Given the description of an element on the screen output the (x, y) to click on. 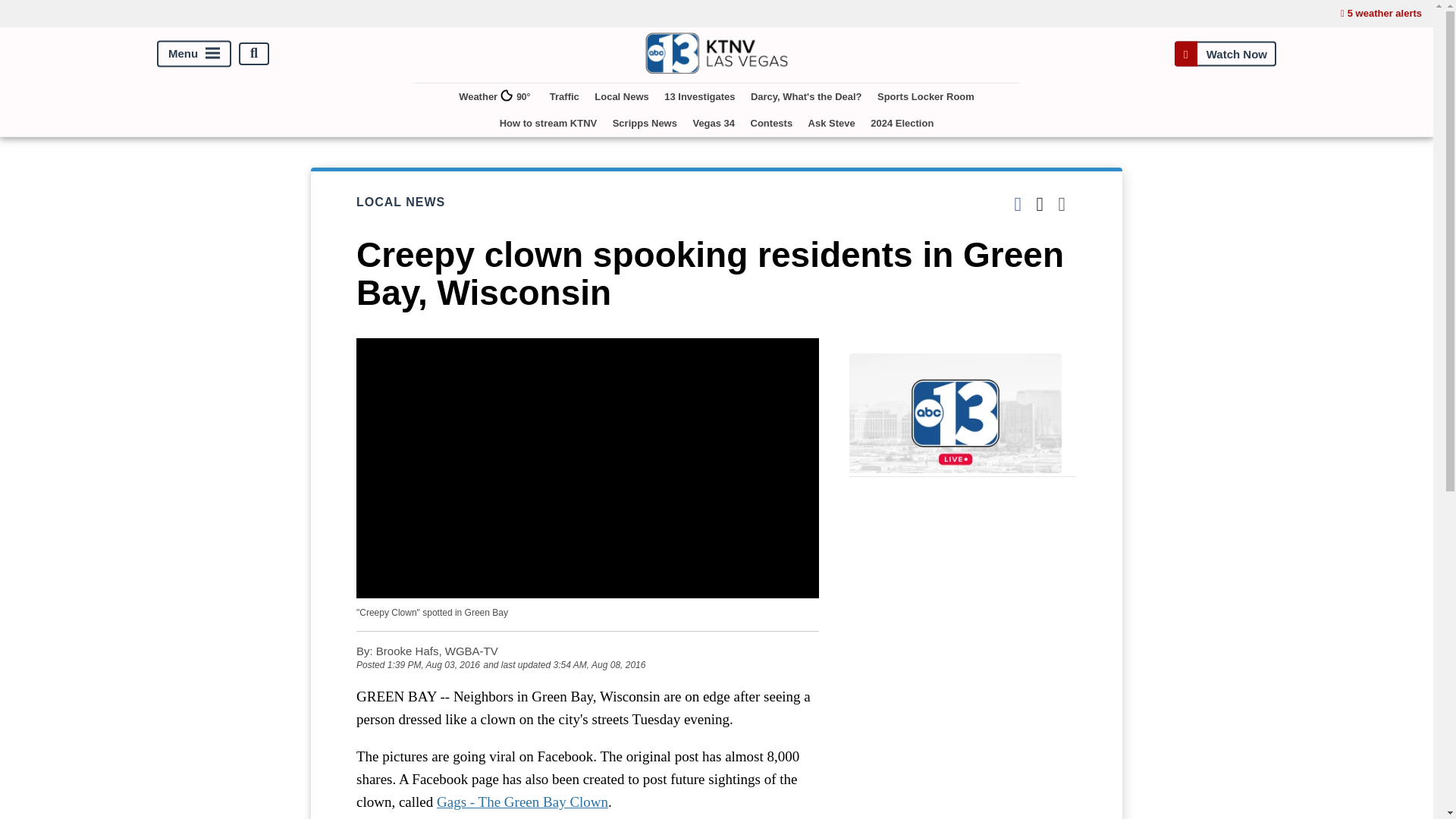
Menu (194, 53)
Watch Now (1224, 52)
